Given the description of an element on the screen output the (x, y) to click on. 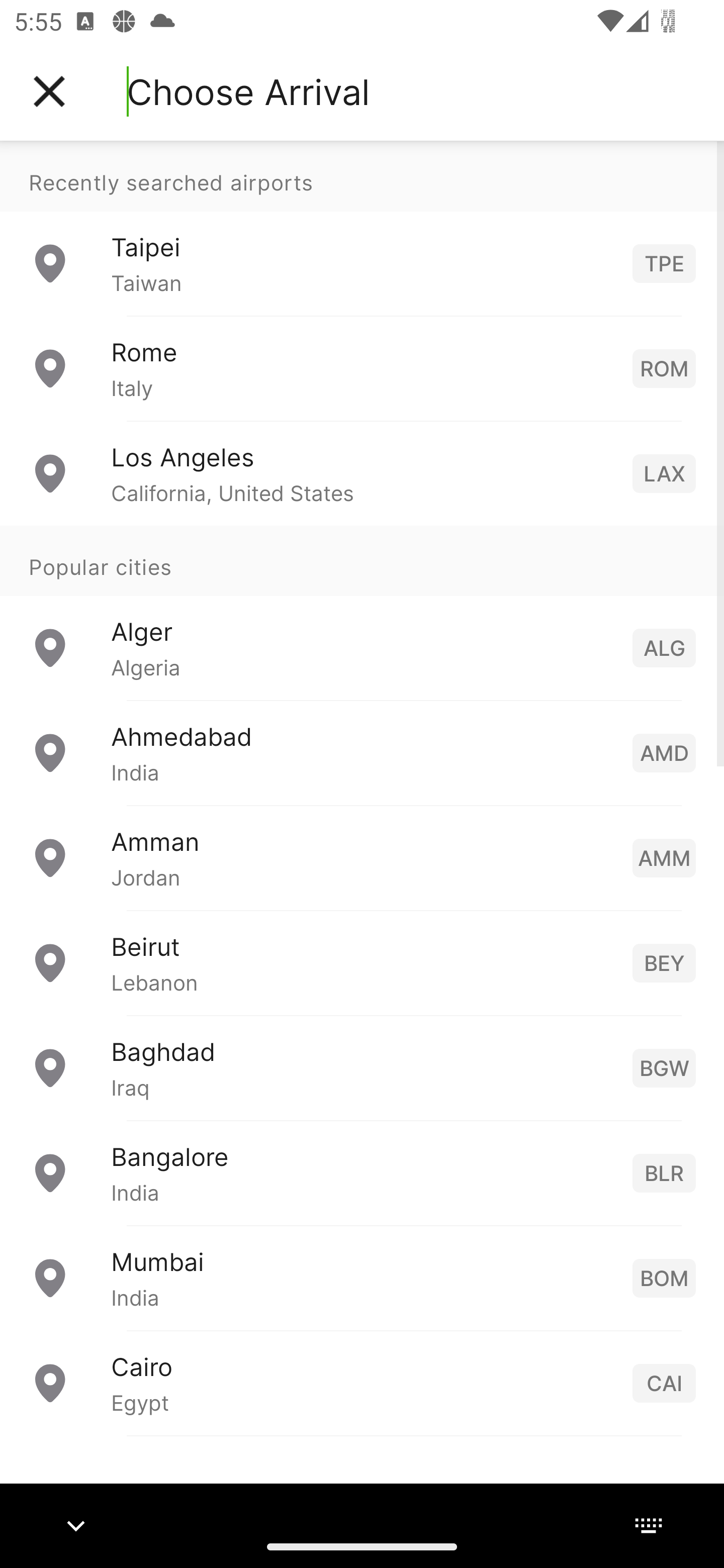
Choose Arrival (247, 91)
Recently searched airports Taipei Taiwan TPE (362, 228)
Recently searched airports (362, 176)
Rome Italy ROM (362, 367)
Los Angeles California, United States LAX (362, 472)
Popular cities Alger Algeria ALG (362, 612)
Popular cities (362, 560)
Ahmedabad India AMD (362, 751)
Amman Jordan AMM (362, 856)
Beirut Lebanon BEY (362, 961)
Baghdad Iraq BGW (362, 1066)
Bangalore India BLR (362, 1171)
Mumbai India BOM (362, 1276)
Cairo Egypt CAI (362, 1381)
